Given the description of an element on the screen output the (x, y) to click on. 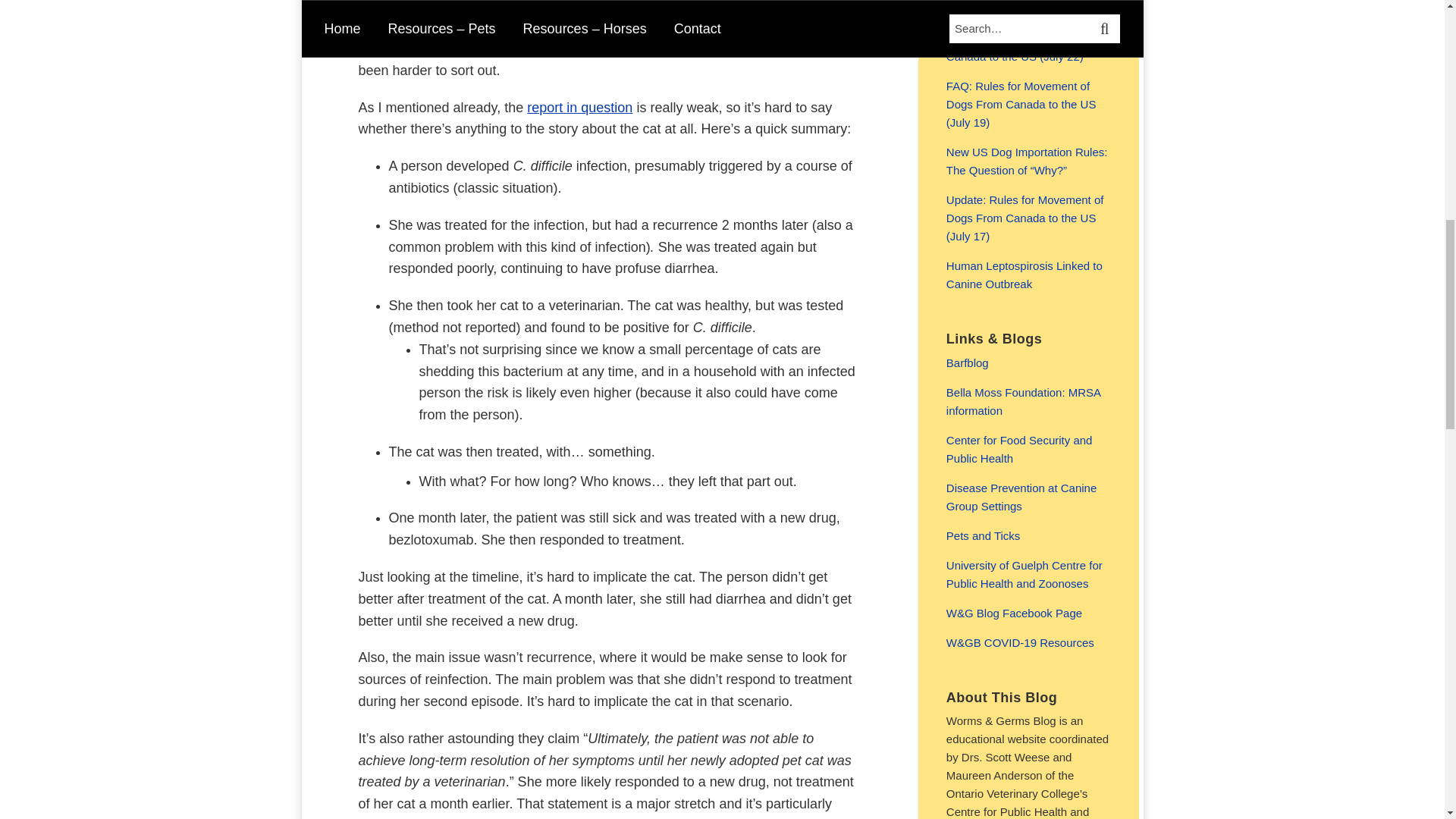
Barfblog (967, 362)
Fact sheets, risk calculator and more (1021, 496)
Detailed infosheets on zoonotic diseases  (1019, 449)
Bella Moss Foundation: MRSA information (1023, 400)
Information on and reporting of tick types found on pets (983, 535)
facebook-sign (1013, 612)
Human Leptospirosis Linked to Canine Outbreak (1024, 274)
Center for Food Security and Public Health (1019, 449)
report in question (579, 107)
Disease Prevention at Canine Group Settings (1021, 496)
